Given the description of an element on the screen output the (x, y) to click on. 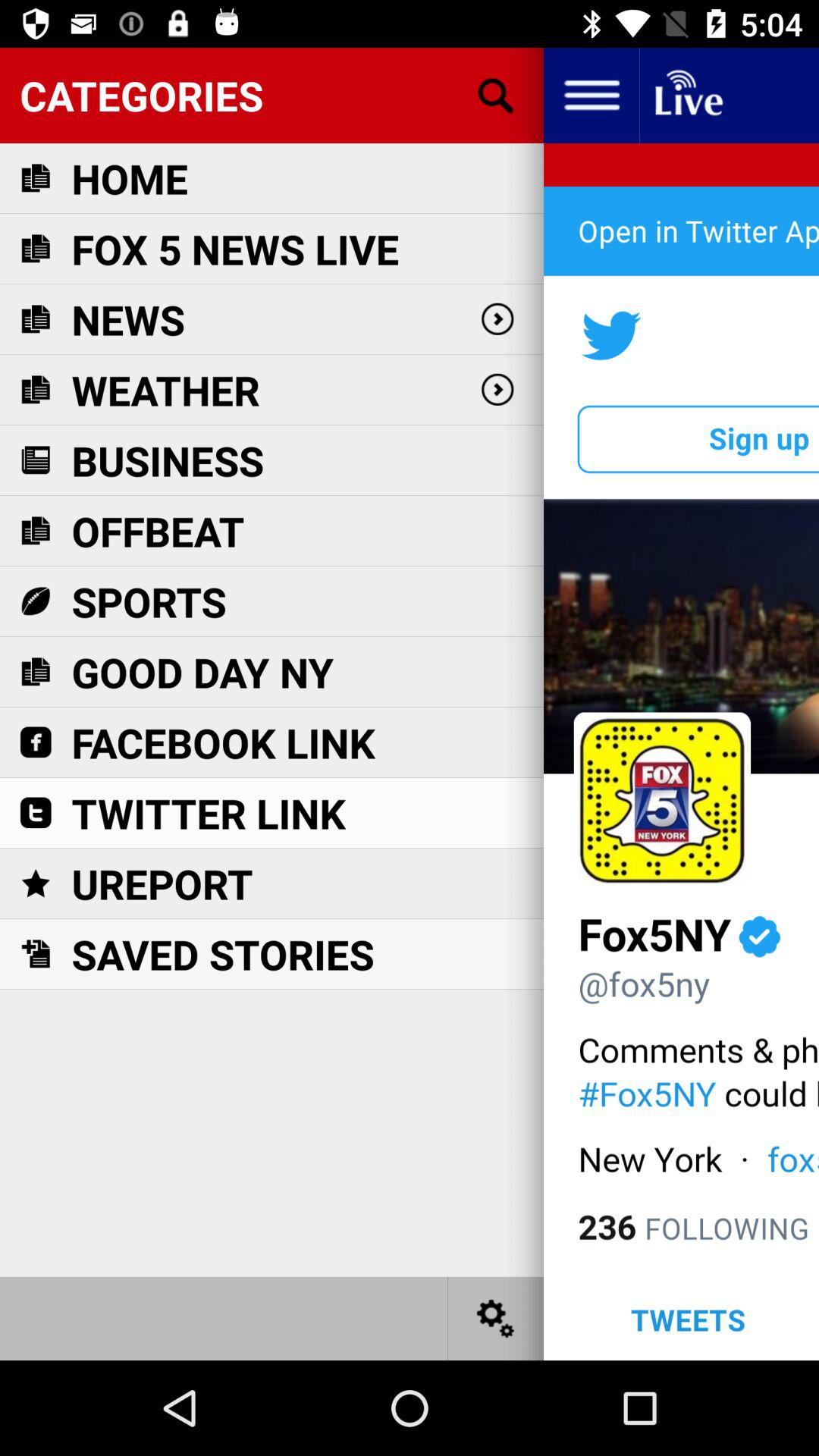
tap the icon below news (165, 389)
